Given the description of an element on the screen output the (x, y) to click on. 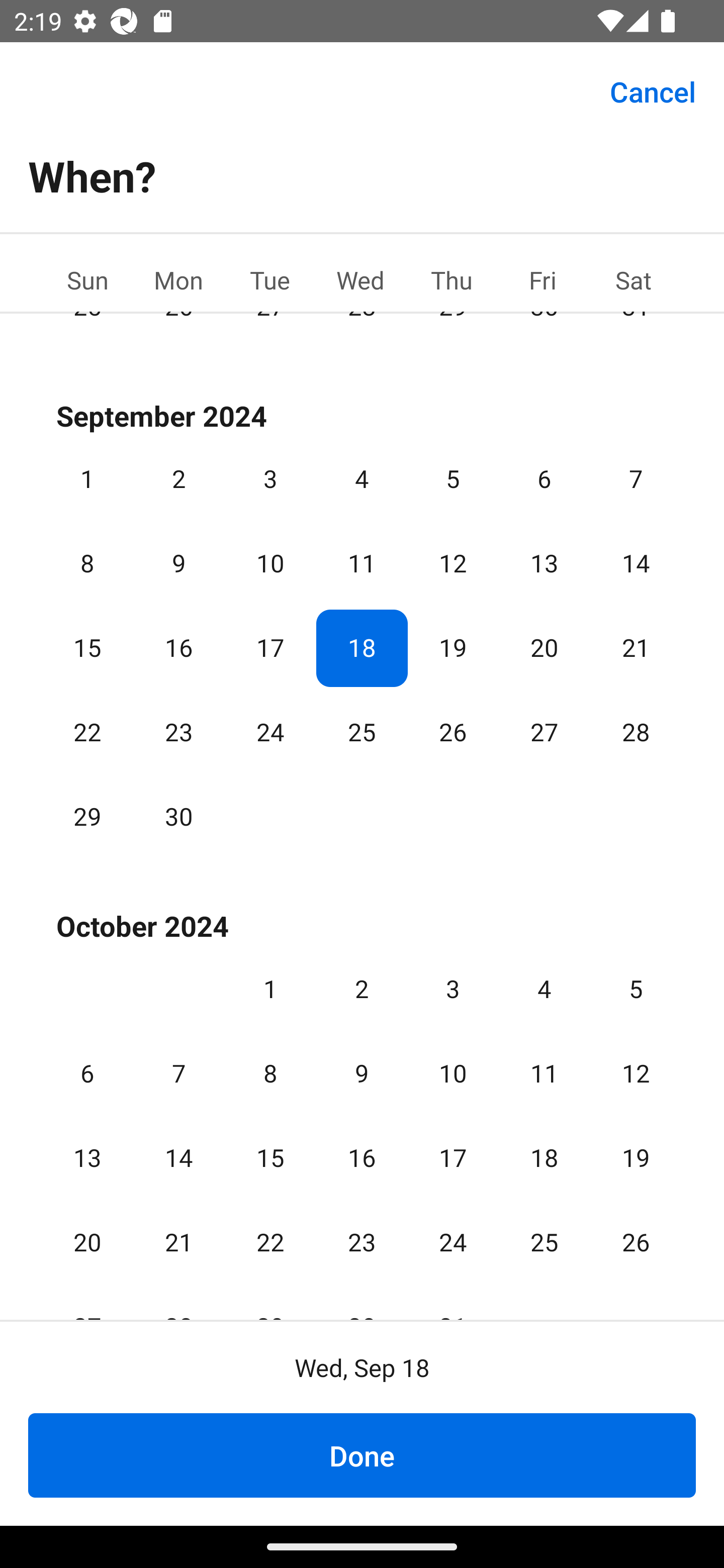
Cancel (652, 90)
Done (361, 1454)
